Given the description of an element on the screen output the (x, y) to click on. 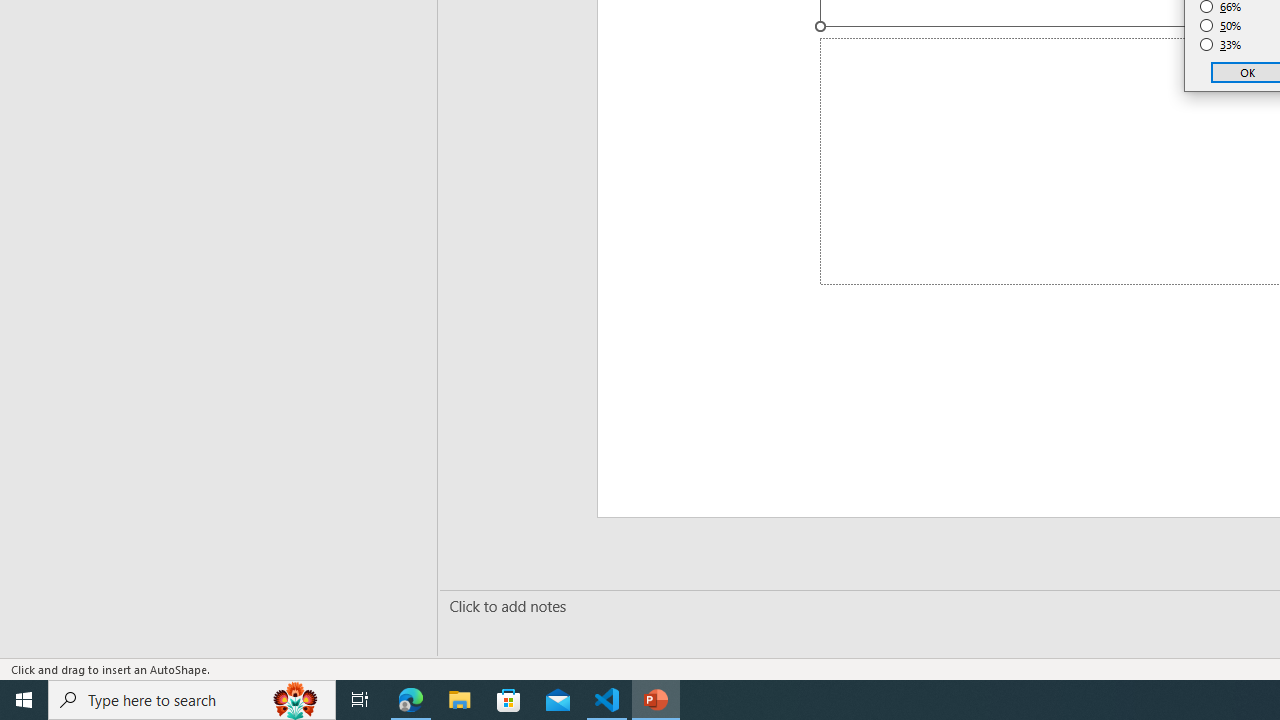
50% (1221, 25)
33% (1221, 44)
